Given the description of an element on the screen output the (x, y) to click on. 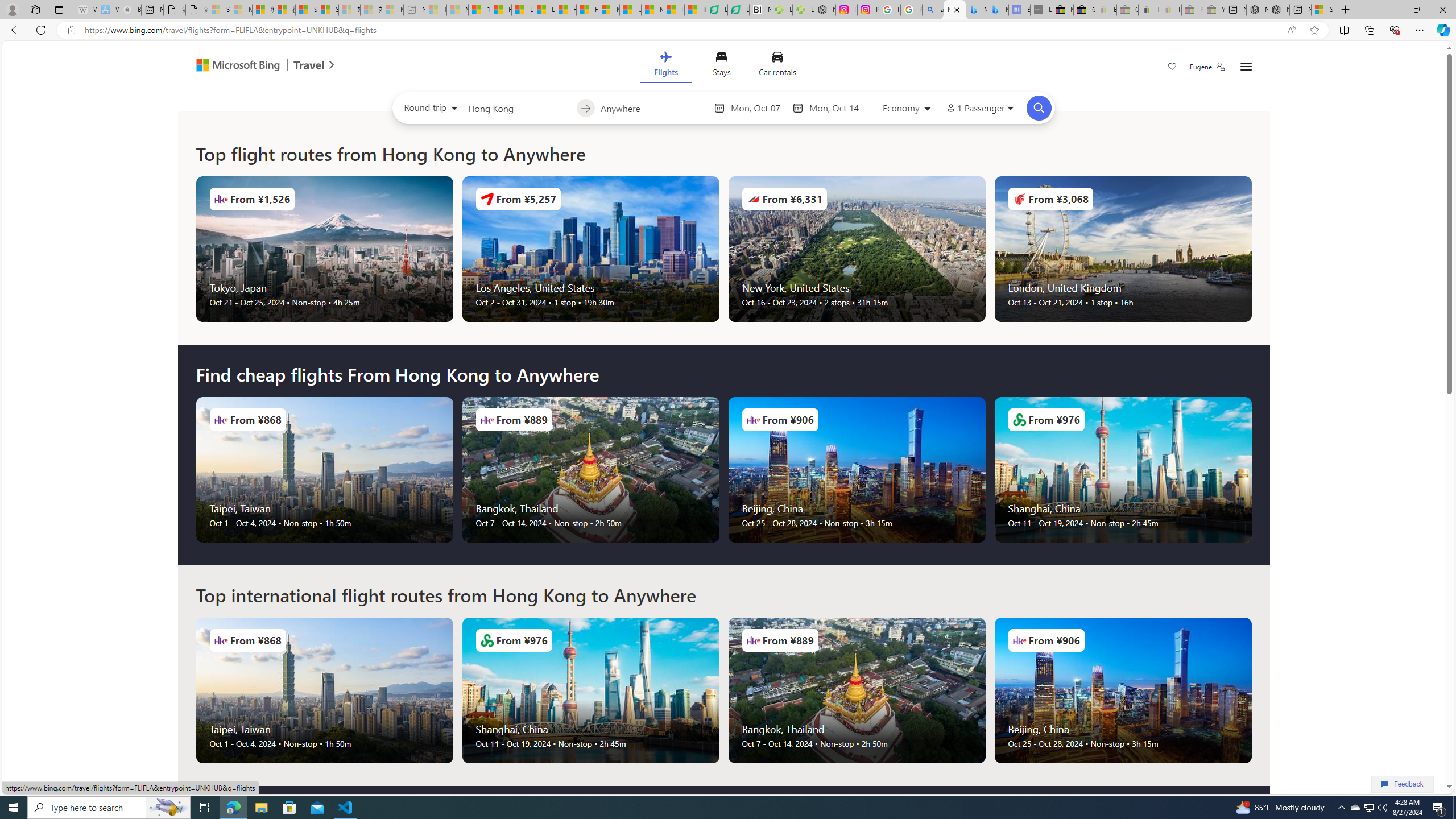
Class: msft-bing-logo msft-bing-logo-desktop (234, 64)
Car rentals (777, 65)
Microsoft Bing Travel - Flights (954, 9)
US Heat Deaths Soared To Record High Last Year (630, 9)
Save (1171, 67)
Press Room - eBay Inc. - Sleeping (1192, 9)
Foo BAR | Trusted Community Engagement and Contributions (587, 9)
